Given the description of an element on the screen output the (x, y) to click on. 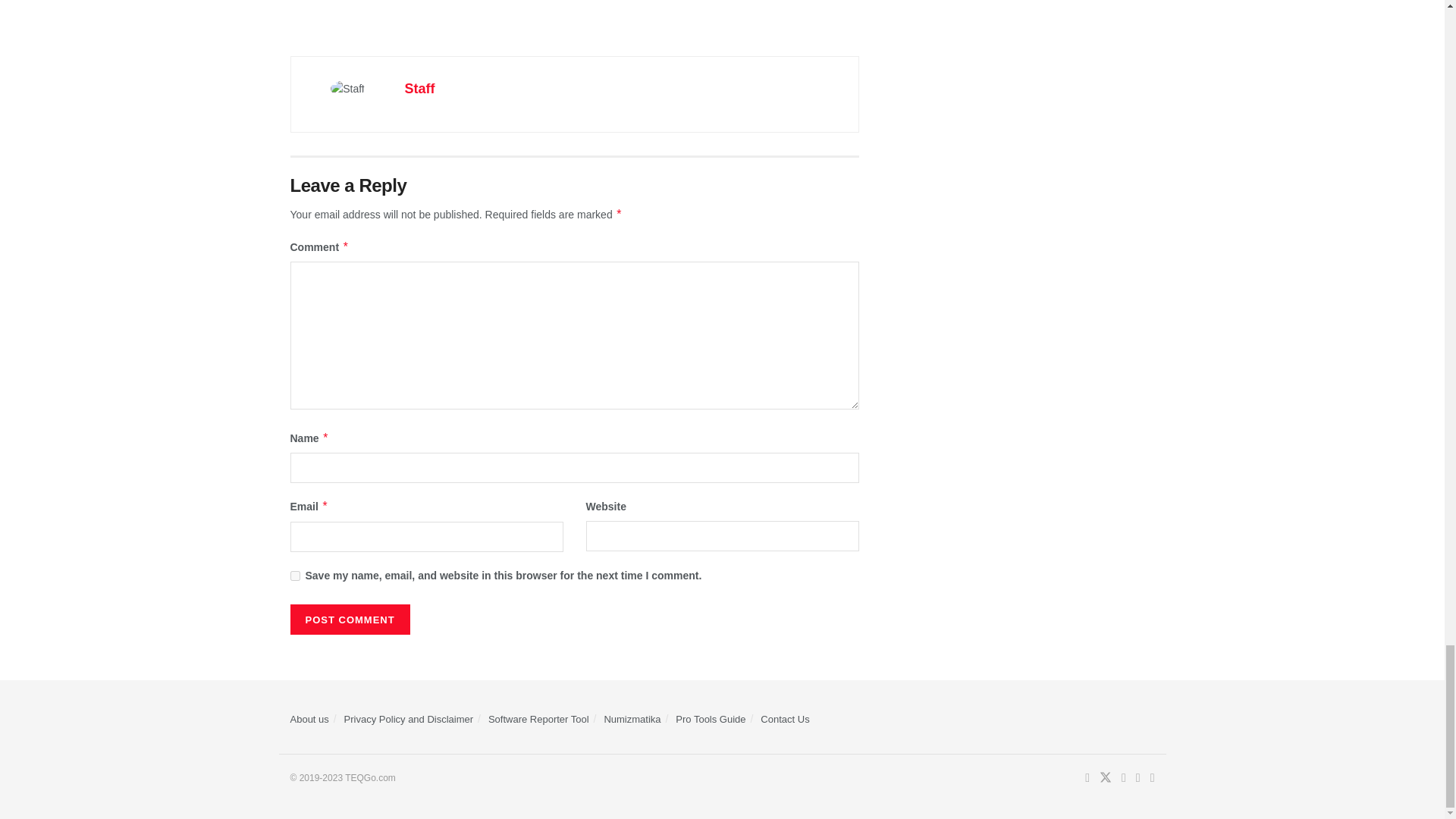
yes (294, 575)
Post Comment (349, 619)
